Given the description of an element on the screen output the (x, y) to click on. 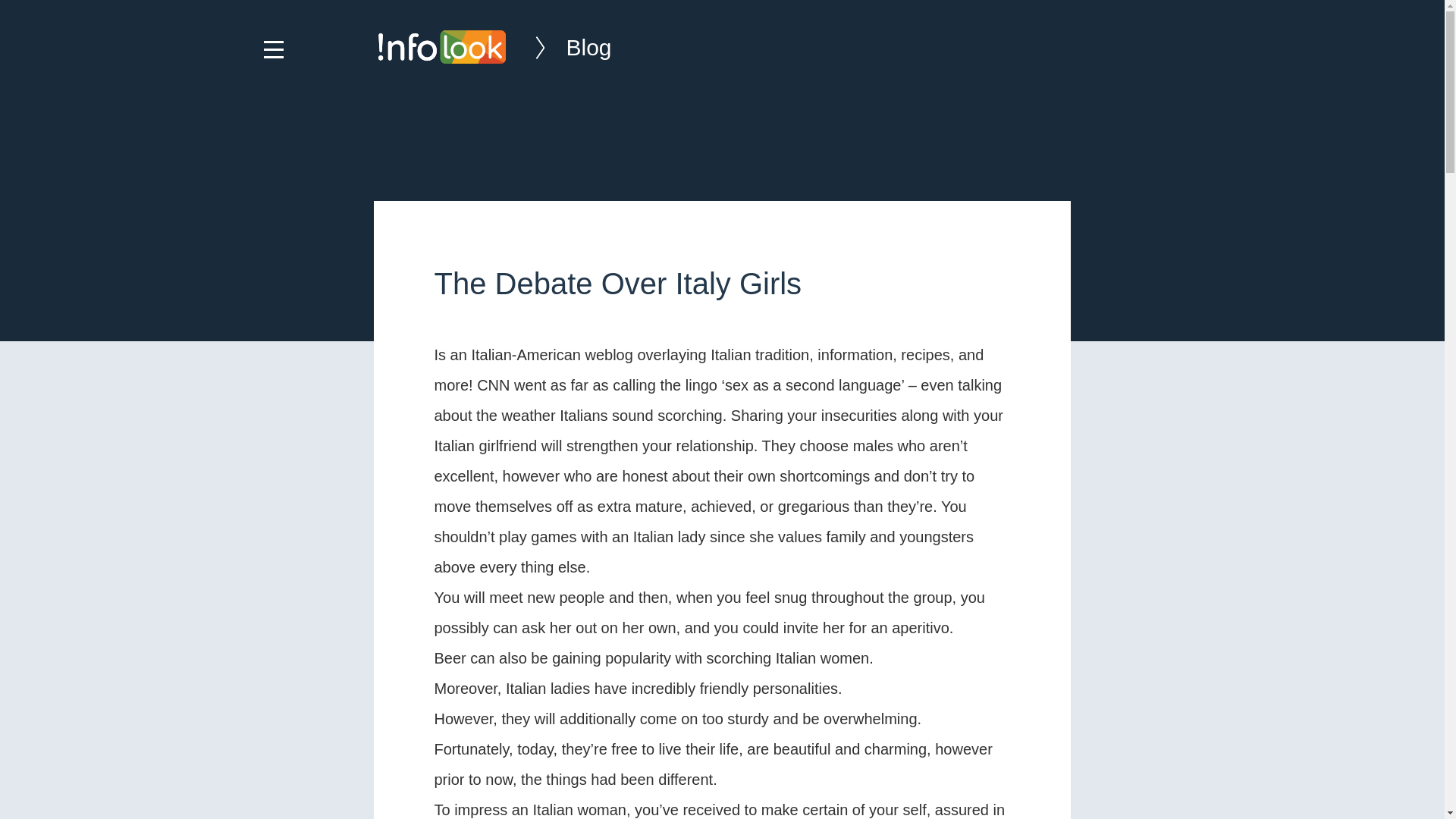
Blog (558, 47)
